Given the description of an element on the screen output the (x, y) to click on. 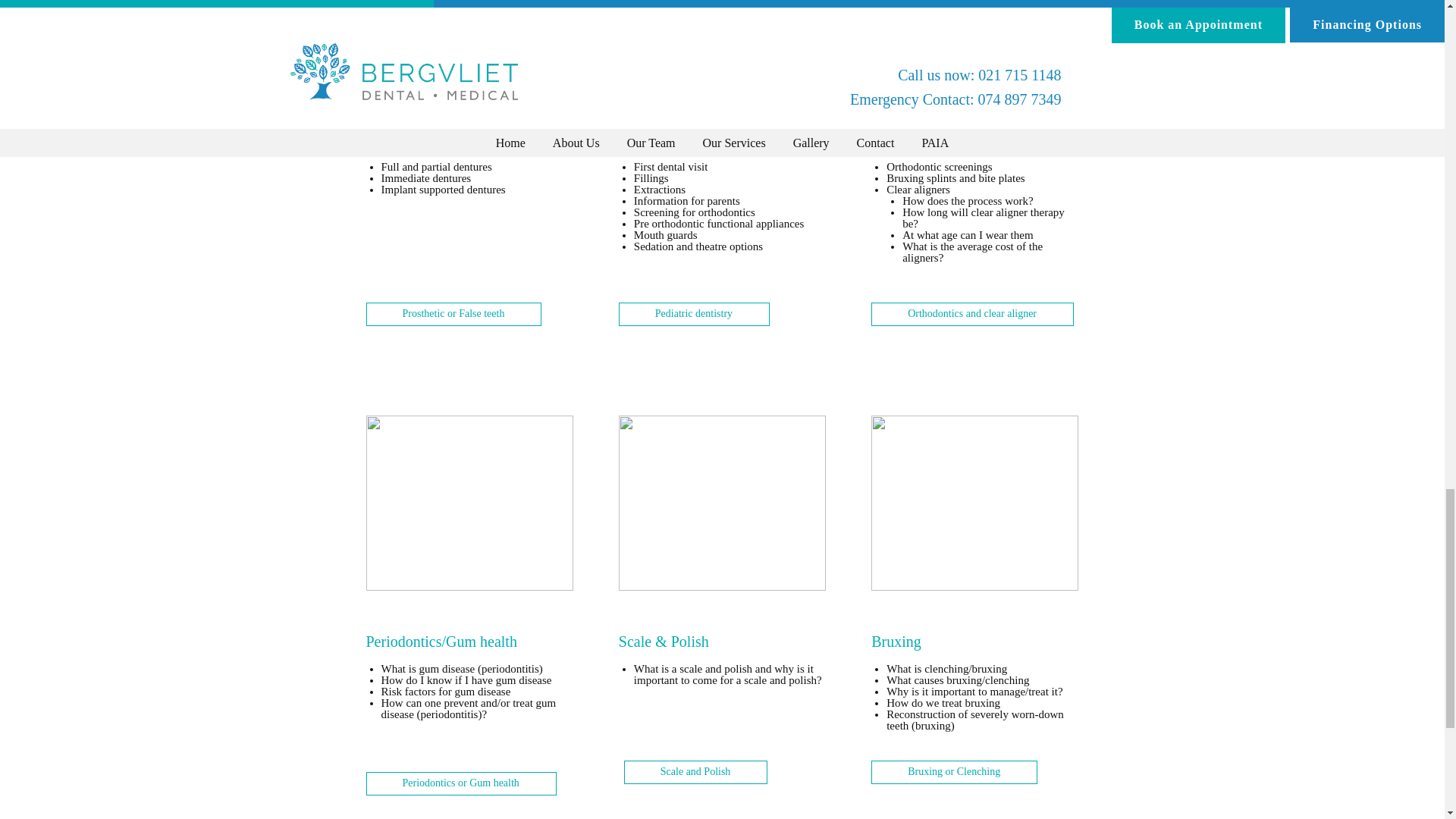
Orthodontics and clear aligner (972, 313)
Prosthetic or False teeth (453, 313)
Pediatric dentistry (694, 313)
